Given the description of an element on the screen output the (x, y) to click on. 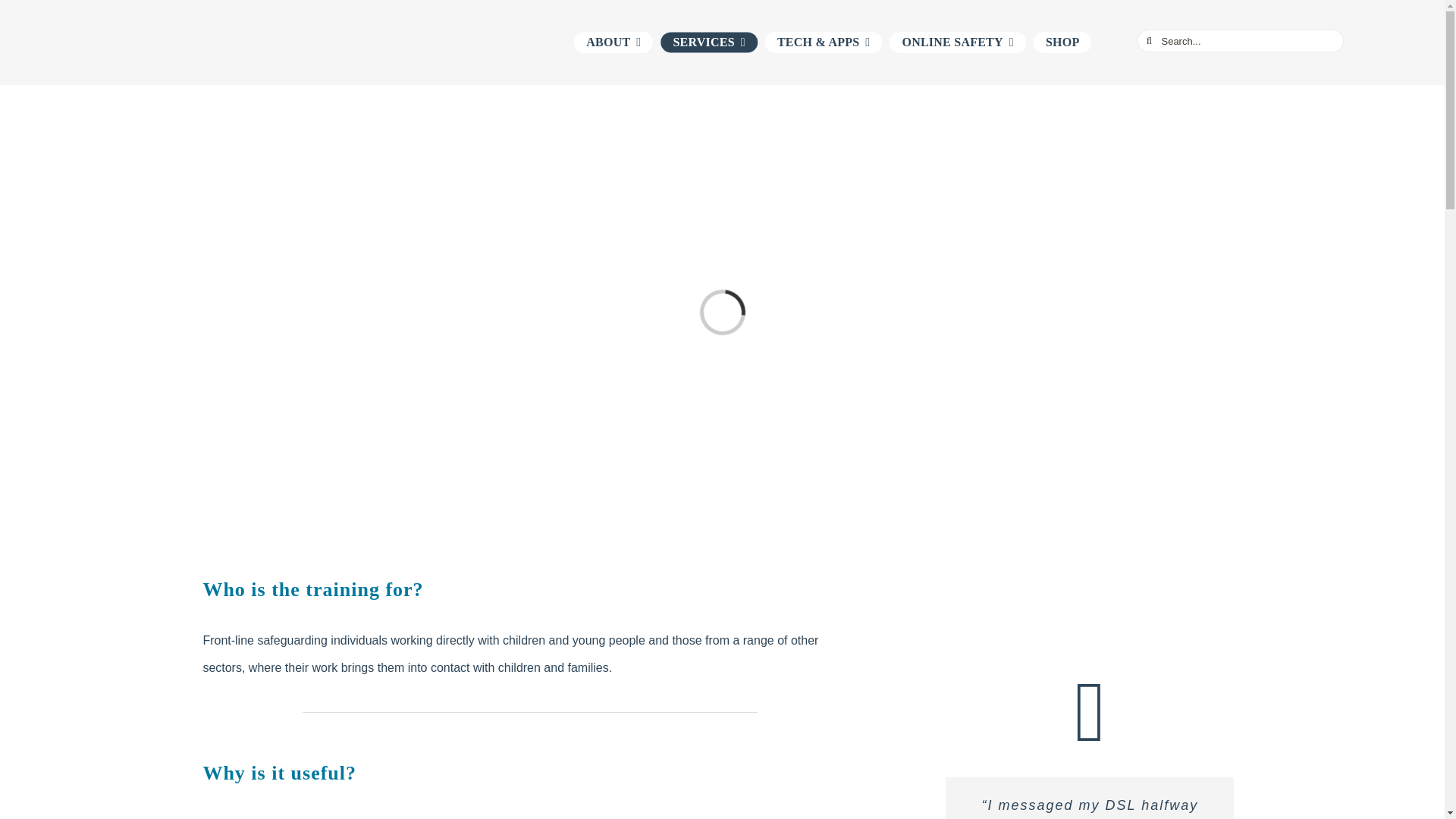
SERVICES (709, 41)
SHOP (1062, 41)
ONLINE SAFETY (957, 41)
ABOUT (612, 41)
